Given the description of an element on the screen output the (x, y) to click on. 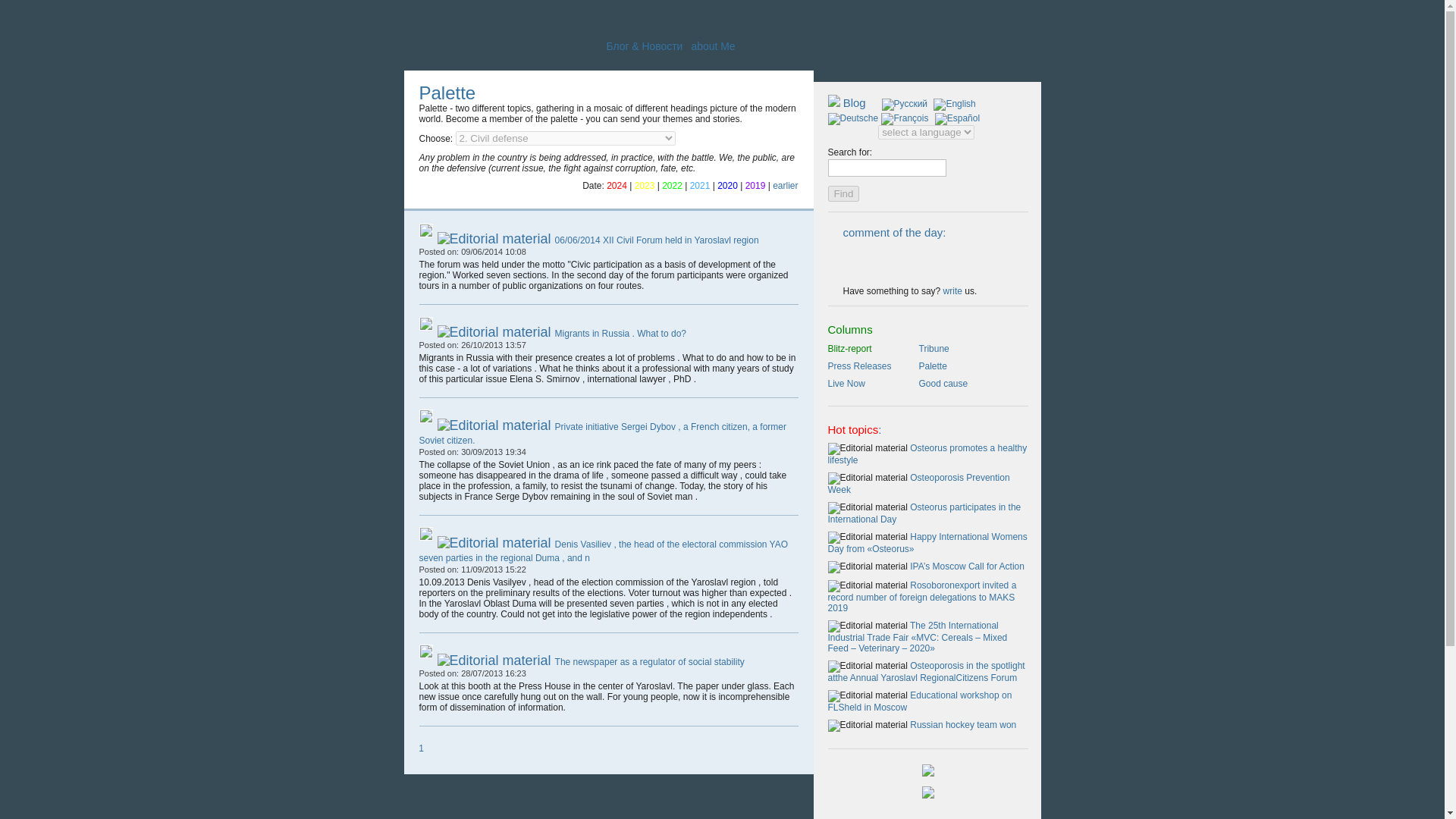
about Me (712, 45)
Editorial material (867, 449)
Migrants in Russia . What to do? (619, 333)
2024 (617, 185)
Find (844, 193)
about Me (712, 45)
Editorial material (867, 508)
2021 (700, 185)
Deutsch (853, 118)
Blitz-report (864, 348)
Press Releases (864, 366)
feedback (952, 290)
Editorial material (867, 567)
Editorial material (493, 660)
